Given the description of an element on the screen output the (x, y) to click on. 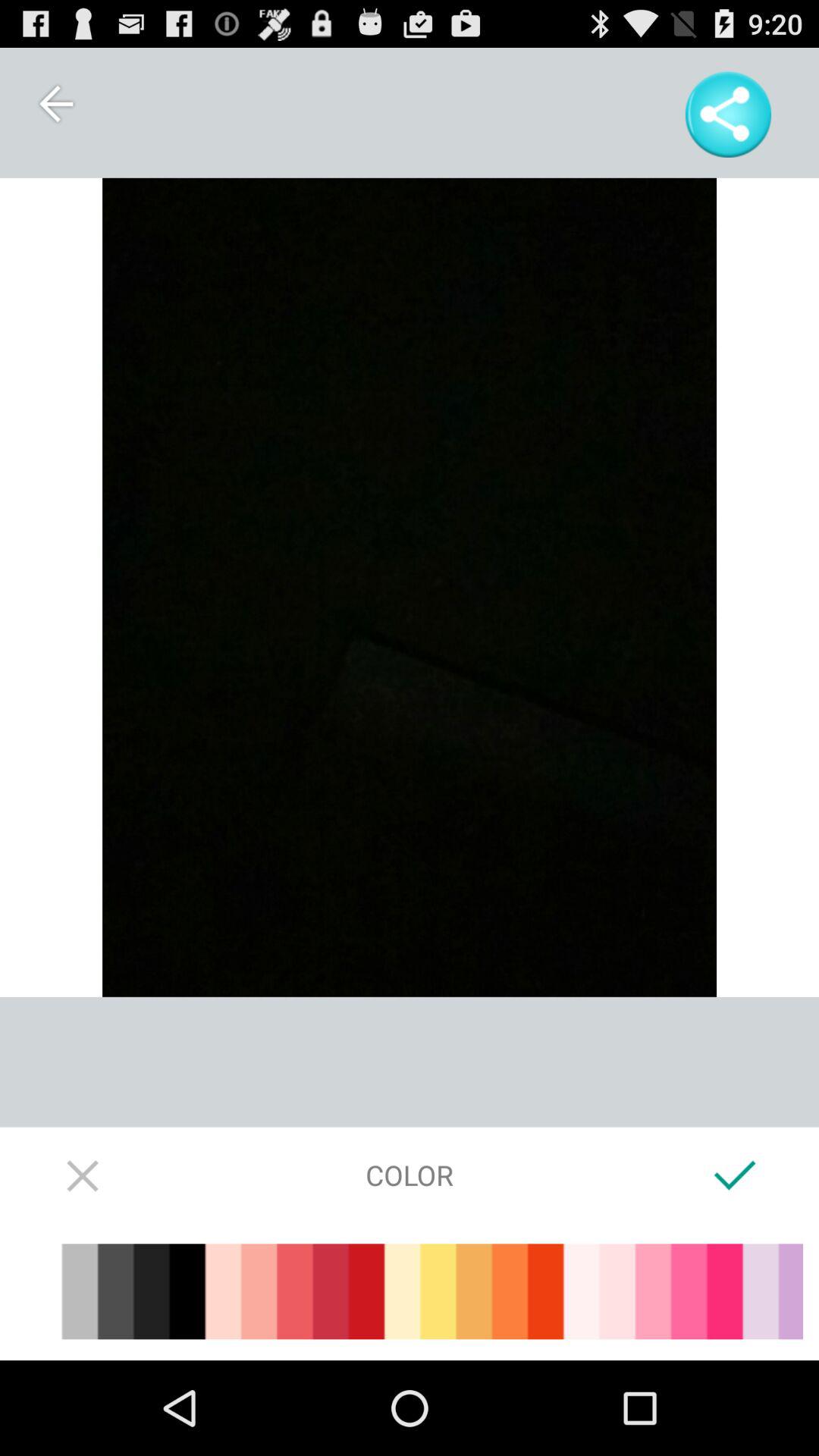
go back (55, 103)
